Given the description of an element on the screen output the (x, y) to click on. 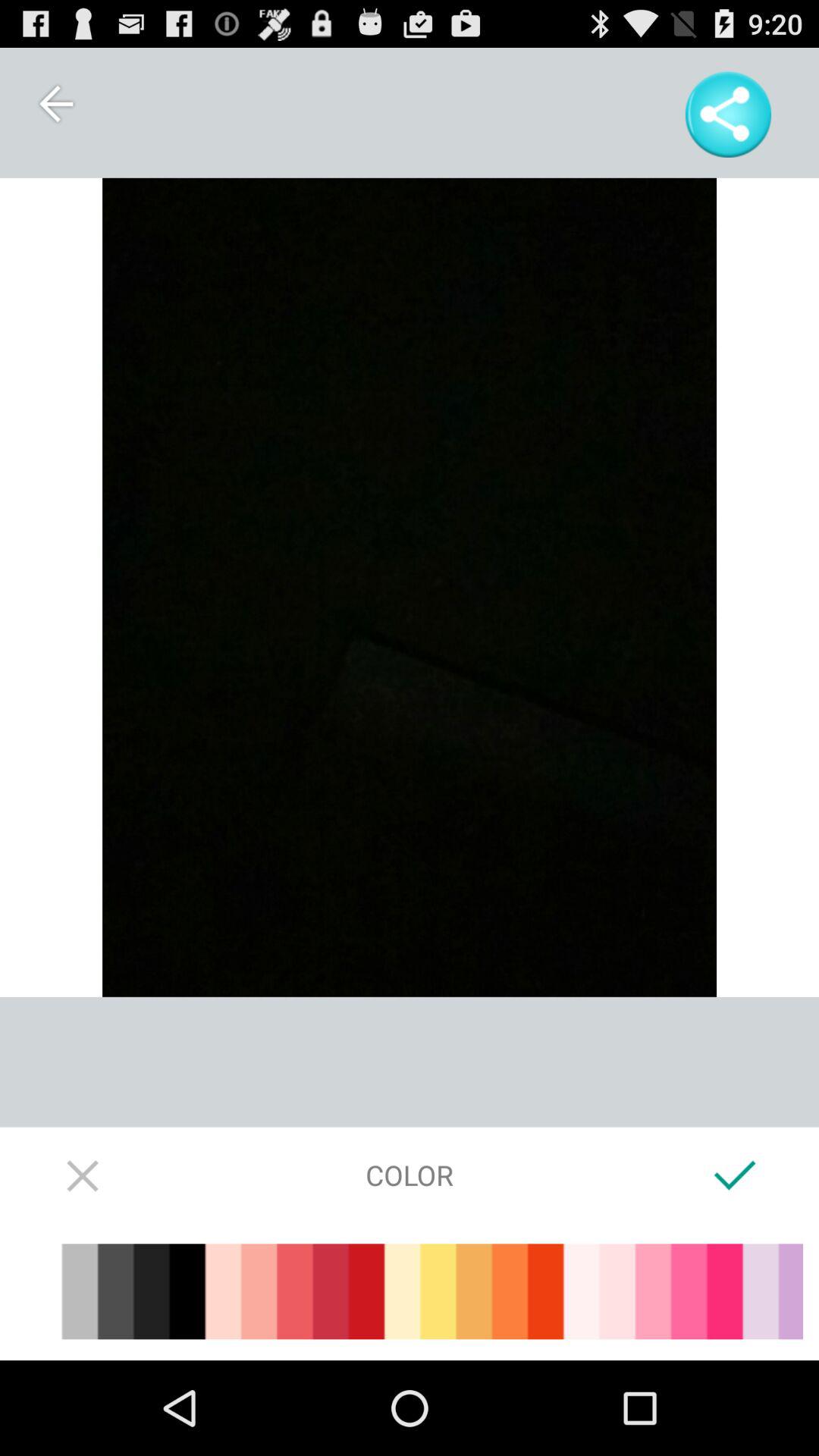
go back (55, 103)
